Given the description of an element on the screen output the (x, y) to click on. 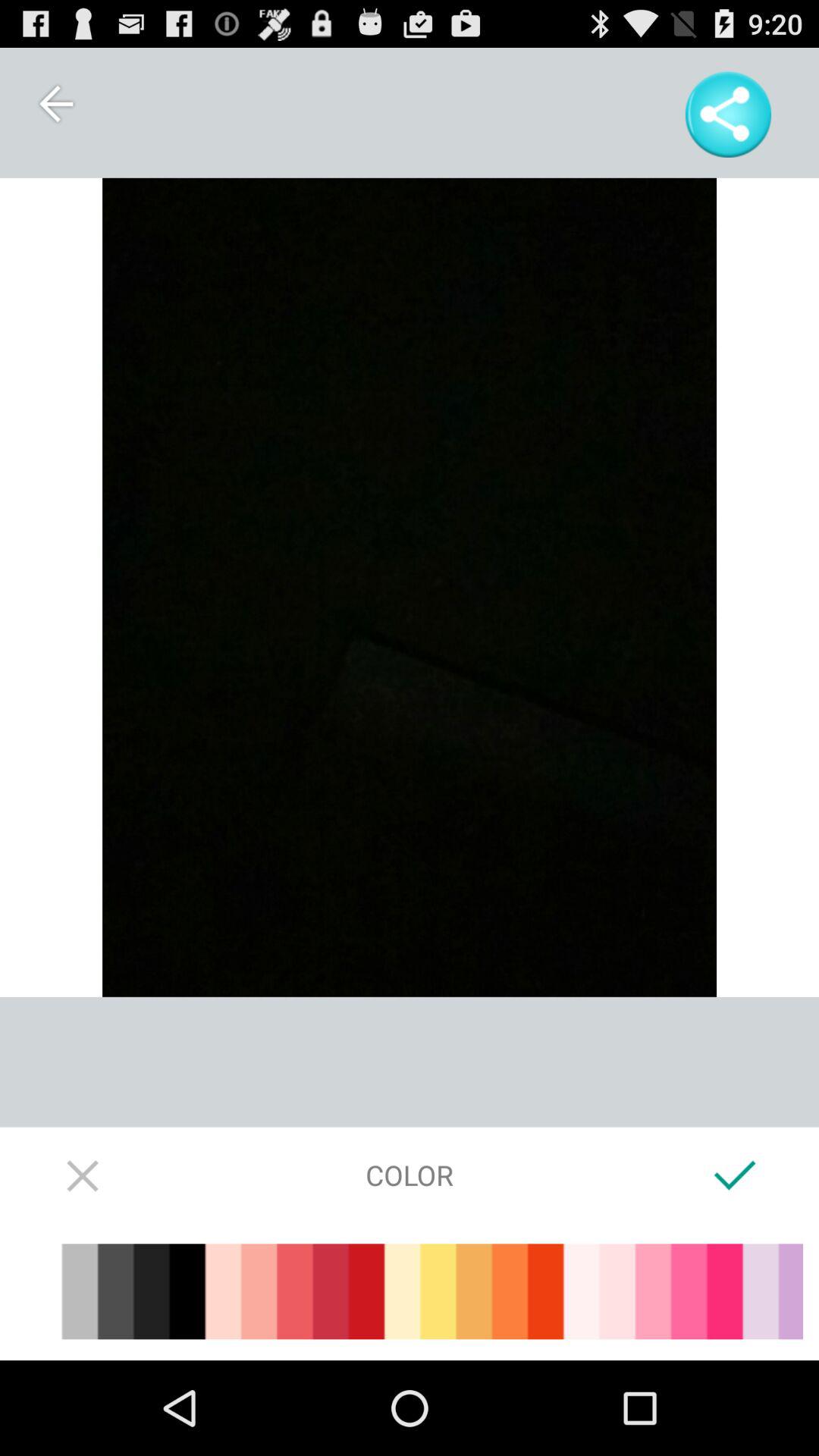
go back (55, 103)
